Given the description of an element on the screen output the (x, y) to click on. 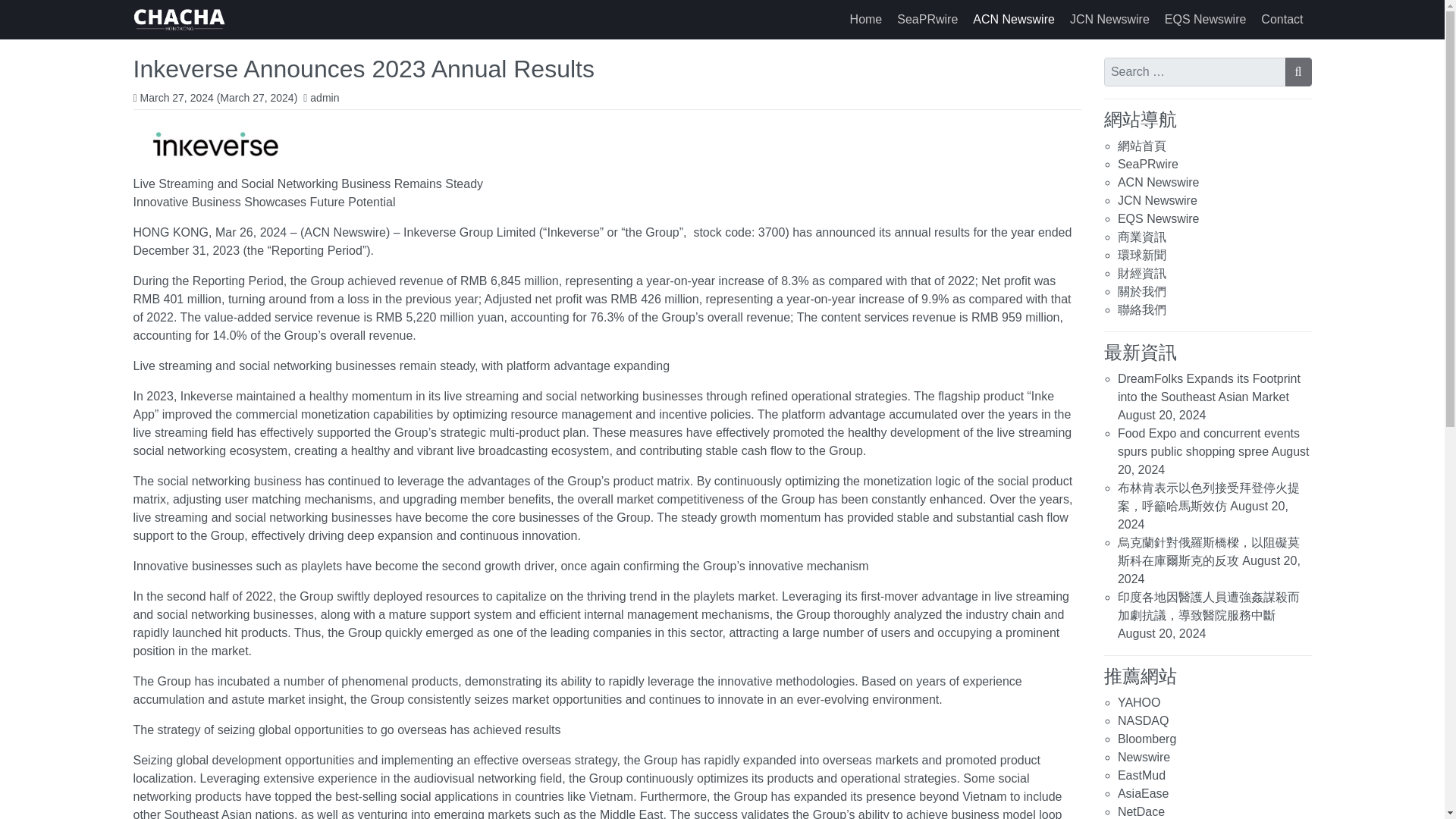
JCN Newswire (1109, 19)
Contact (1281, 19)
NASDAQ (1143, 720)
YAHOO (1139, 702)
SeaPRwire (927, 19)
ACN Newswire (1013, 19)
JCN Newswire (1109, 19)
Newswire (1144, 757)
EastMud (1142, 775)
JCN Newswire (1157, 200)
